Given the description of an element on the screen output the (x, y) to click on. 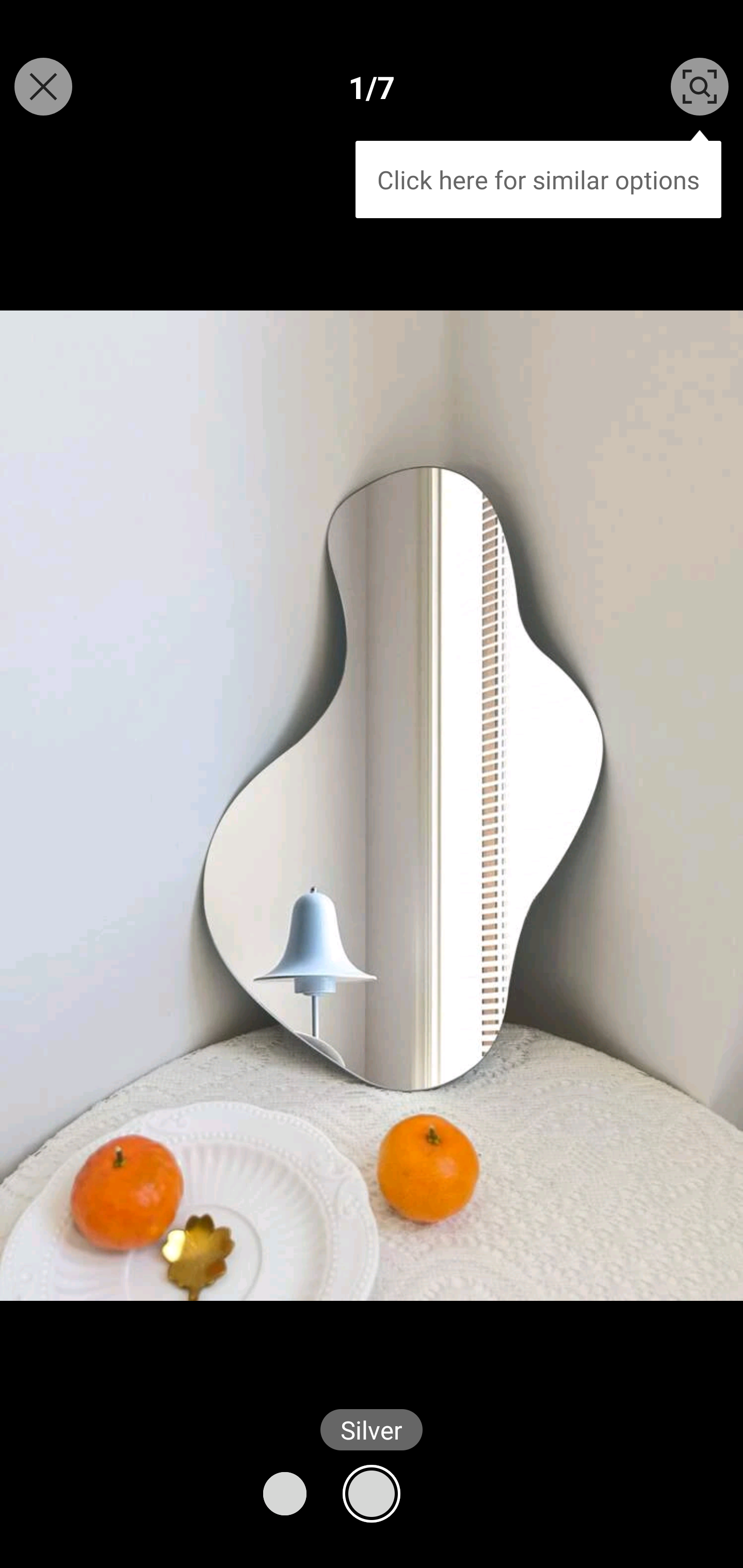
Click here for similar options (538, 173)
